Given the description of an element on the screen output the (x, y) to click on. 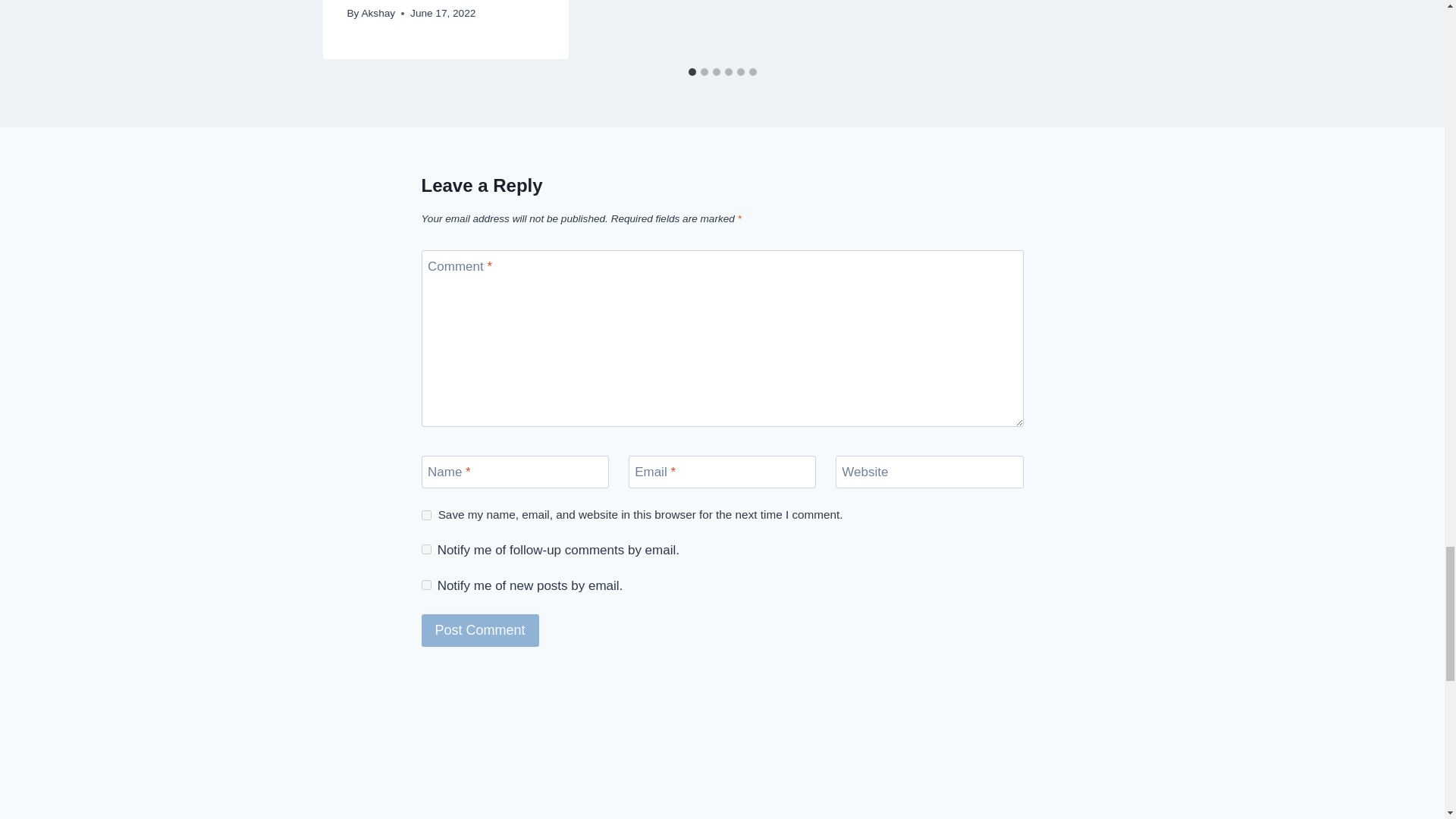
Post Comment (480, 630)
subscribe (426, 584)
subscribe (426, 549)
yes (426, 515)
